Given the description of an element on the screen output the (x, y) to click on. 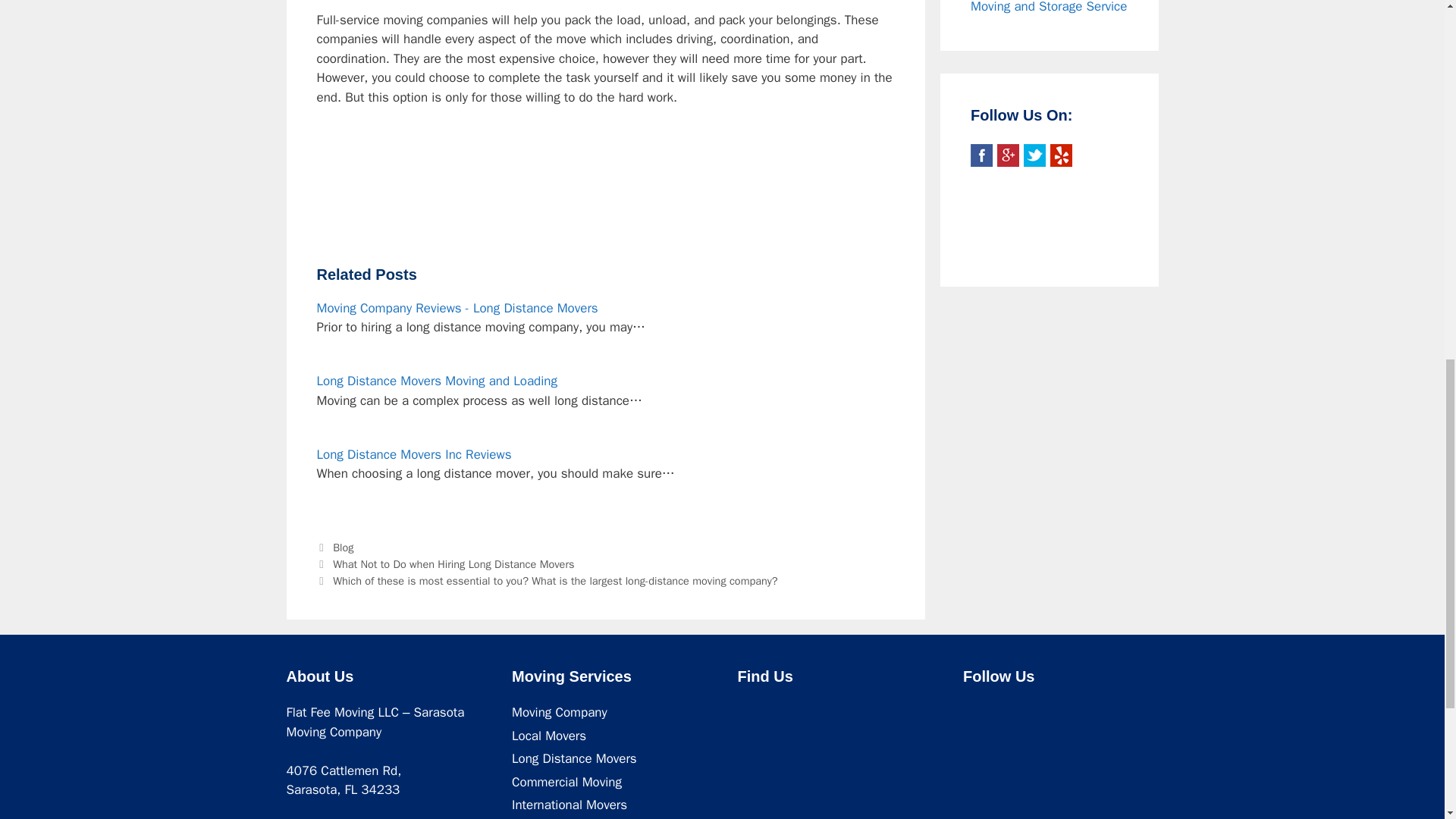
What Not to Do when Hiring Long Distance Movers (453, 563)
Scroll back to top (1406, 720)
Long Distance Movers Moving and Loading (437, 381)
Long Distance Movers Inc Reviews (414, 454)
Blog (343, 547)
Moving Company Reviews - Long Distance Movers (457, 308)
